Given the description of an element on the screen output the (x, y) to click on. 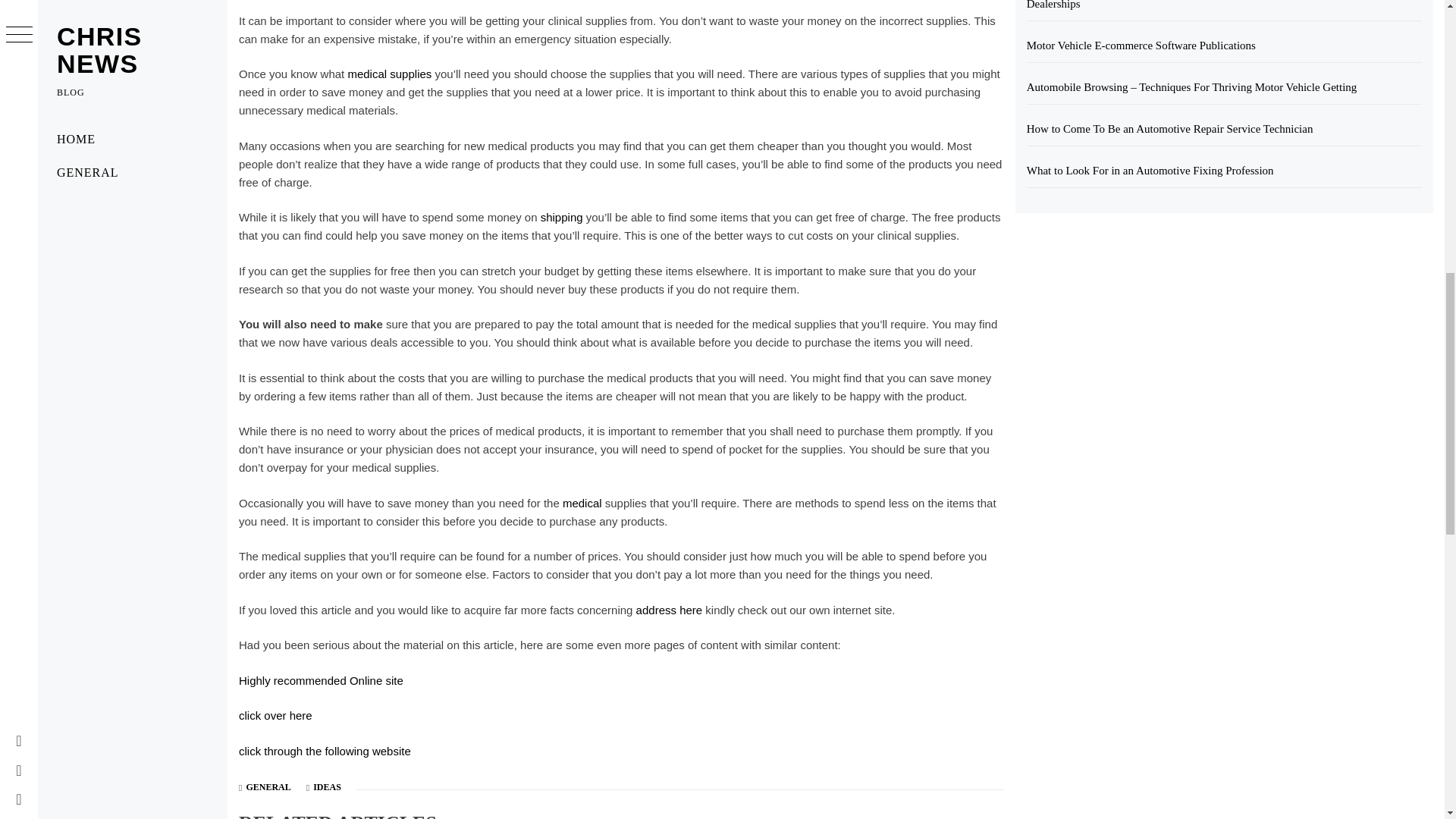
shipping (561, 216)
medical (582, 502)
IDEAS (326, 787)
GENERAL (267, 787)
click through the following website (324, 750)
click over here (275, 715)
address here (669, 609)
Highly recommended Online site (320, 680)
medical supplies (388, 73)
